Given the description of an element on the screen output the (x, y) to click on. 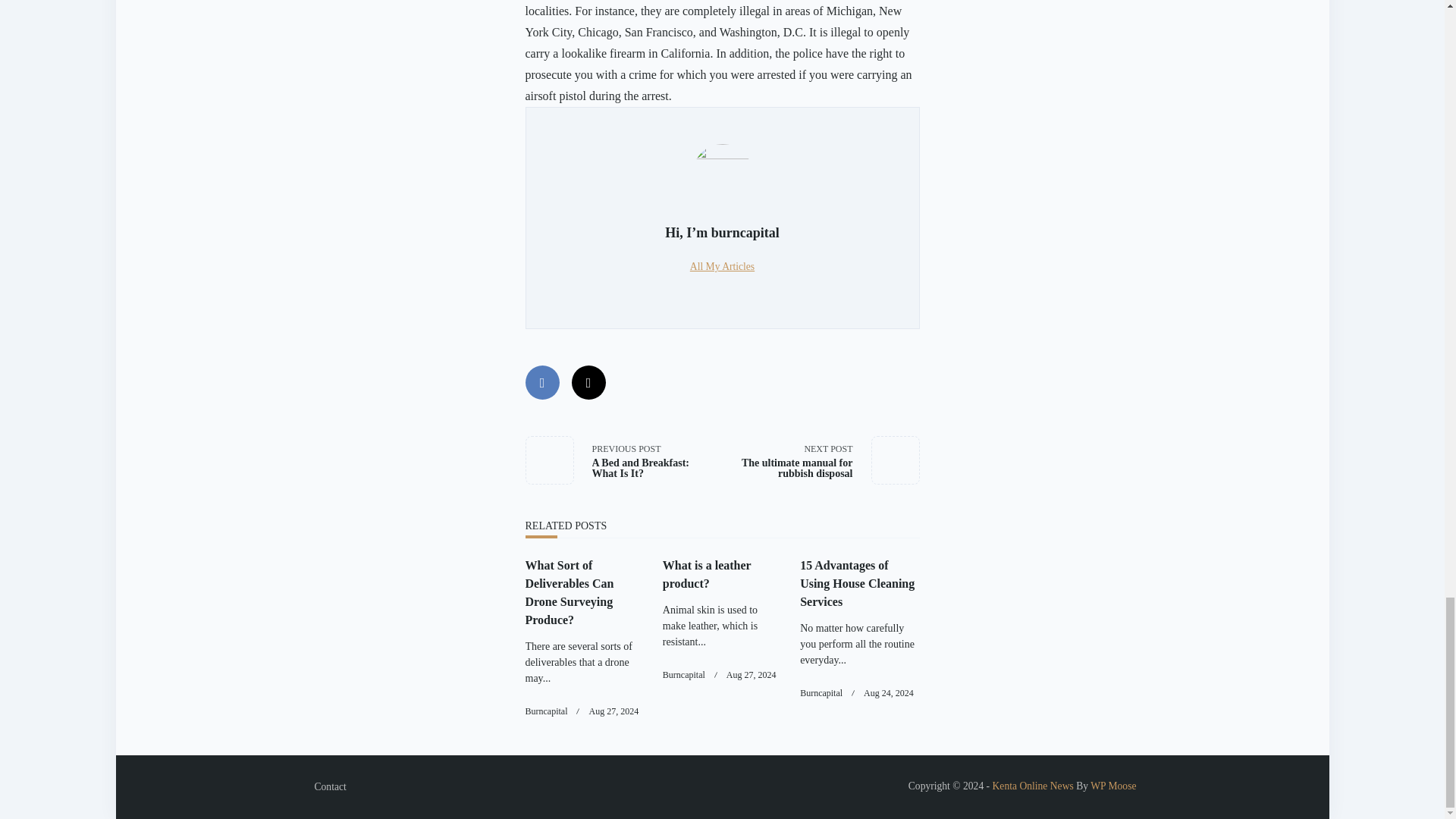
All My Articles (722, 266)
Aug 27, 2024 (623, 459)
Contact (613, 710)
Burncapital (329, 786)
Burncapital (821, 692)
Aug 27, 2024 (545, 710)
15 Advantages of Using House Cleaning Services (751, 674)
What is a leather product? (856, 583)
Burncapital (706, 573)
